Given the description of an element on the screen output the (x, y) to click on. 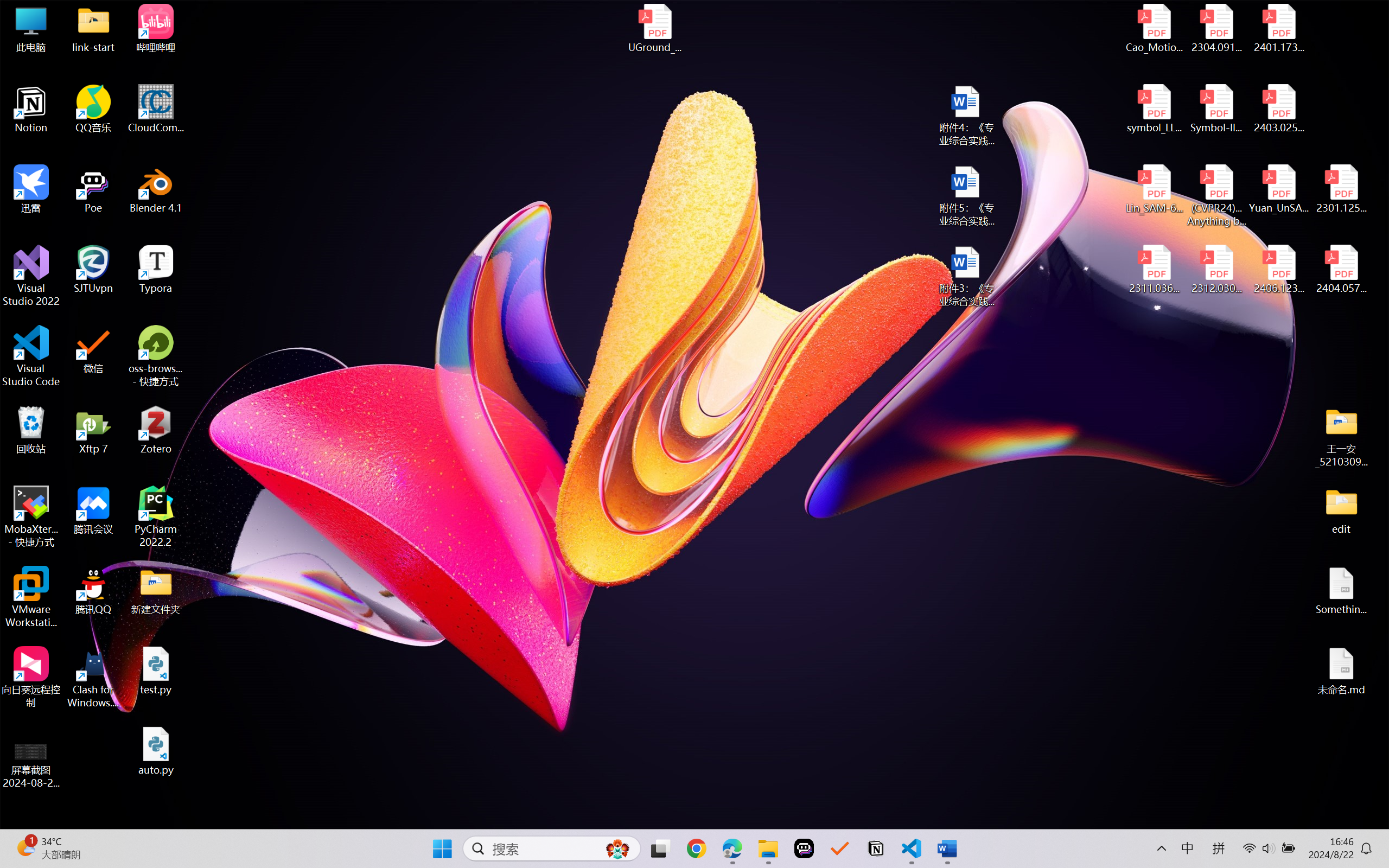
2312.03032v2.pdf (1216, 269)
2404.05719v1.pdf (1340, 269)
Visual Studio 2022 (31, 276)
UGround_paper.pdf (654, 28)
VMware Workstation Pro (31, 597)
2311.03658v2.pdf (1154, 269)
